Given the description of an element on the screen output the (x, y) to click on. 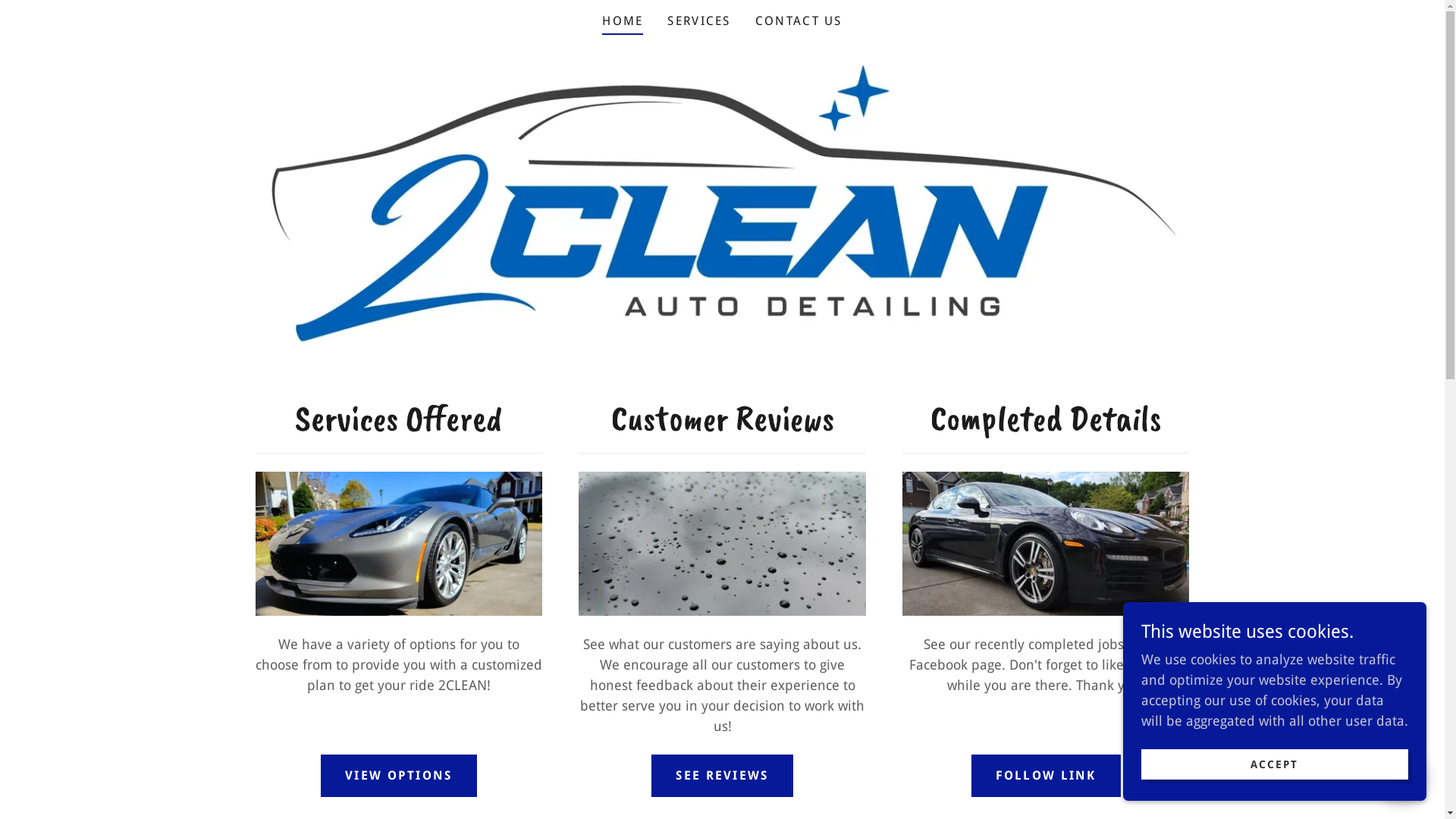
FOLLOW LINK Element type: text (1045, 775)
VIEW OPTIONS Element type: text (398, 775)
HOME Element type: text (622, 23)
CONTACT US Element type: text (798, 20)
ACCEPT Element type: text (1274, 764)
SEE REVIEWS Element type: text (721, 775)
SERVICES Element type: text (698, 20)
